Given the description of an element on the screen output the (x, y) to click on. 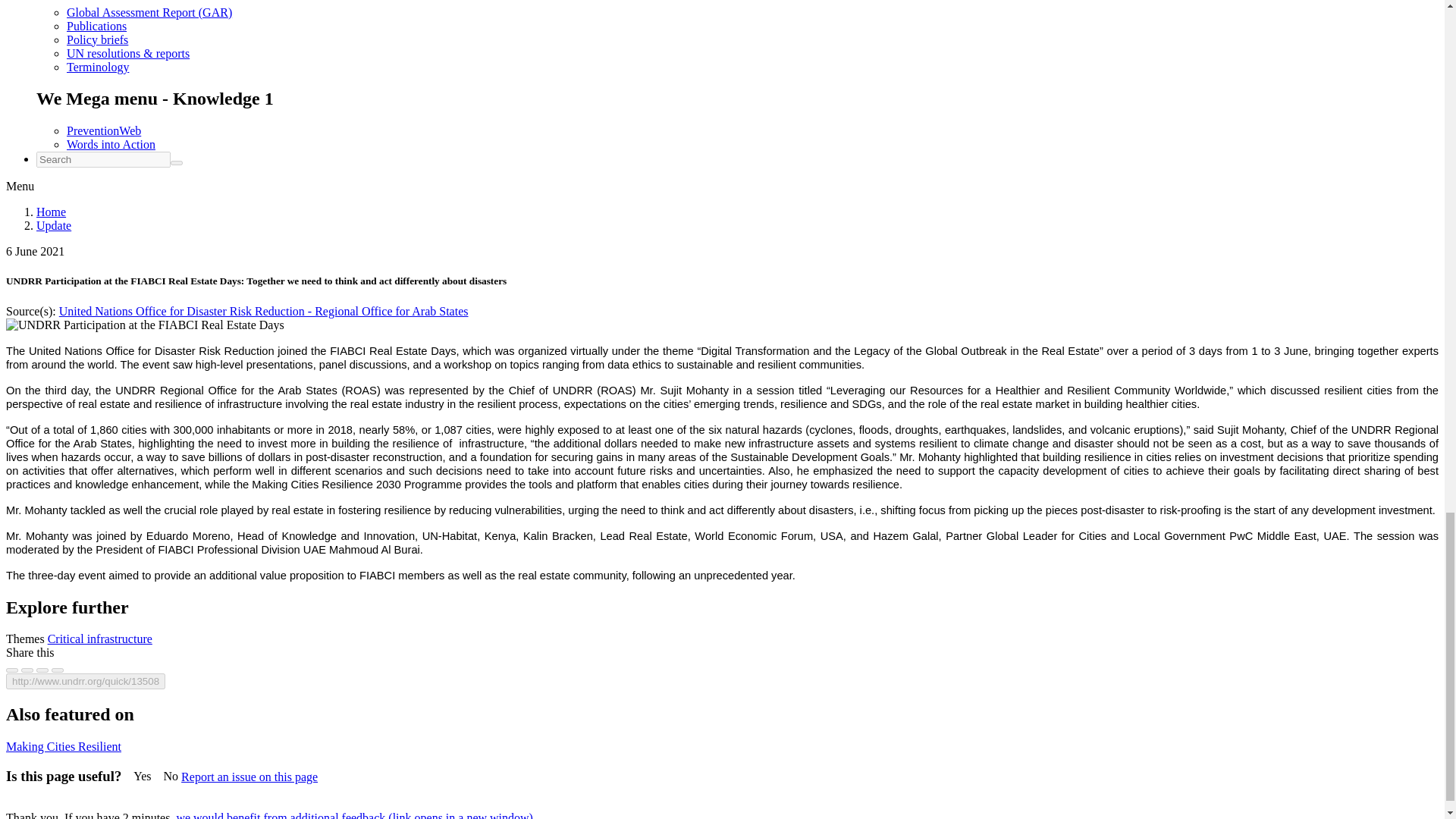
UNDRR publications (96, 24)
Share on LinkedIn (42, 670)
Copy to Clipboard (85, 681)
Share via Email (57, 670)
Share on Twitter (27, 670)
Global Assessment Report (148, 11)
DRR Community (103, 130)
Share on Facebook (11, 670)
